Given the description of an element on the screen output the (x, y) to click on. 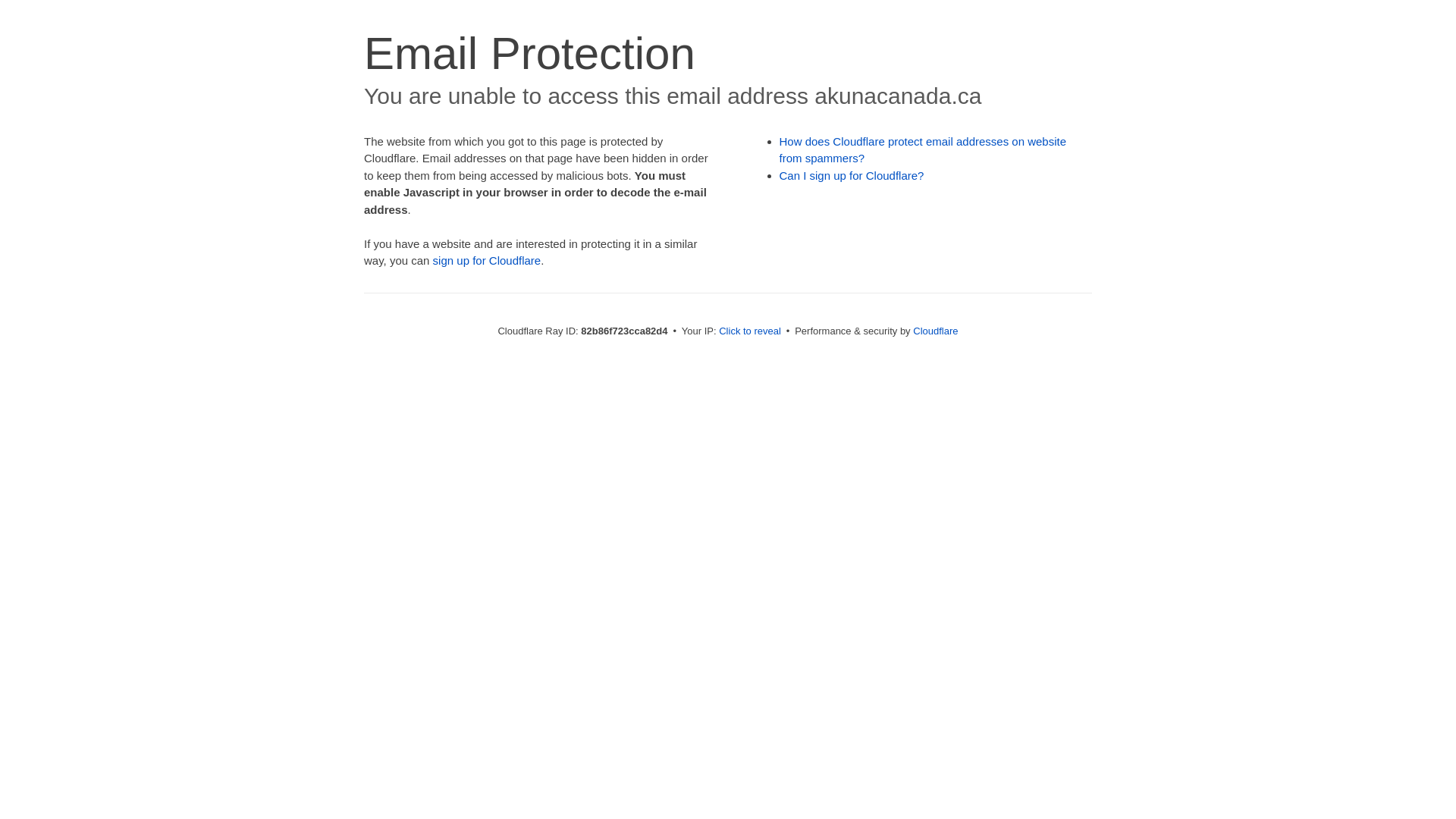
Can I sign up for Cloudflare? Element type: text (851, 175)
Click to reveal Element type: text (749, 330)
Cloudflare Element type: text (935, 330)
sign up for Cloudflare Element type: text (487, 260)
